Given the description of an element on the screen output the (x, y) to click on. 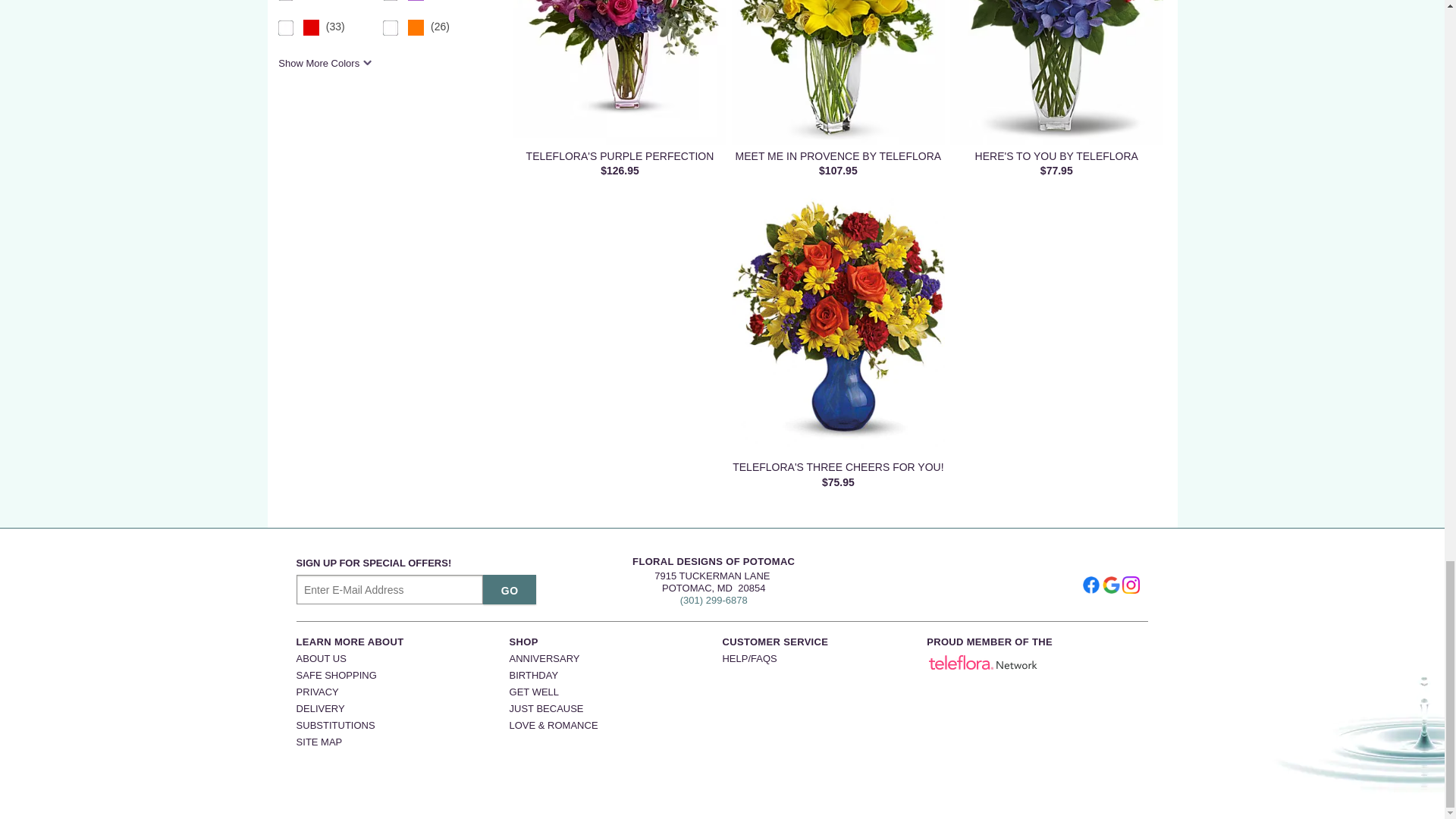
Email Sign up (390, 589)
go (509, 589)
Go (509, 589)
